Given the description of an element on the screen output the (x, y) to click on. 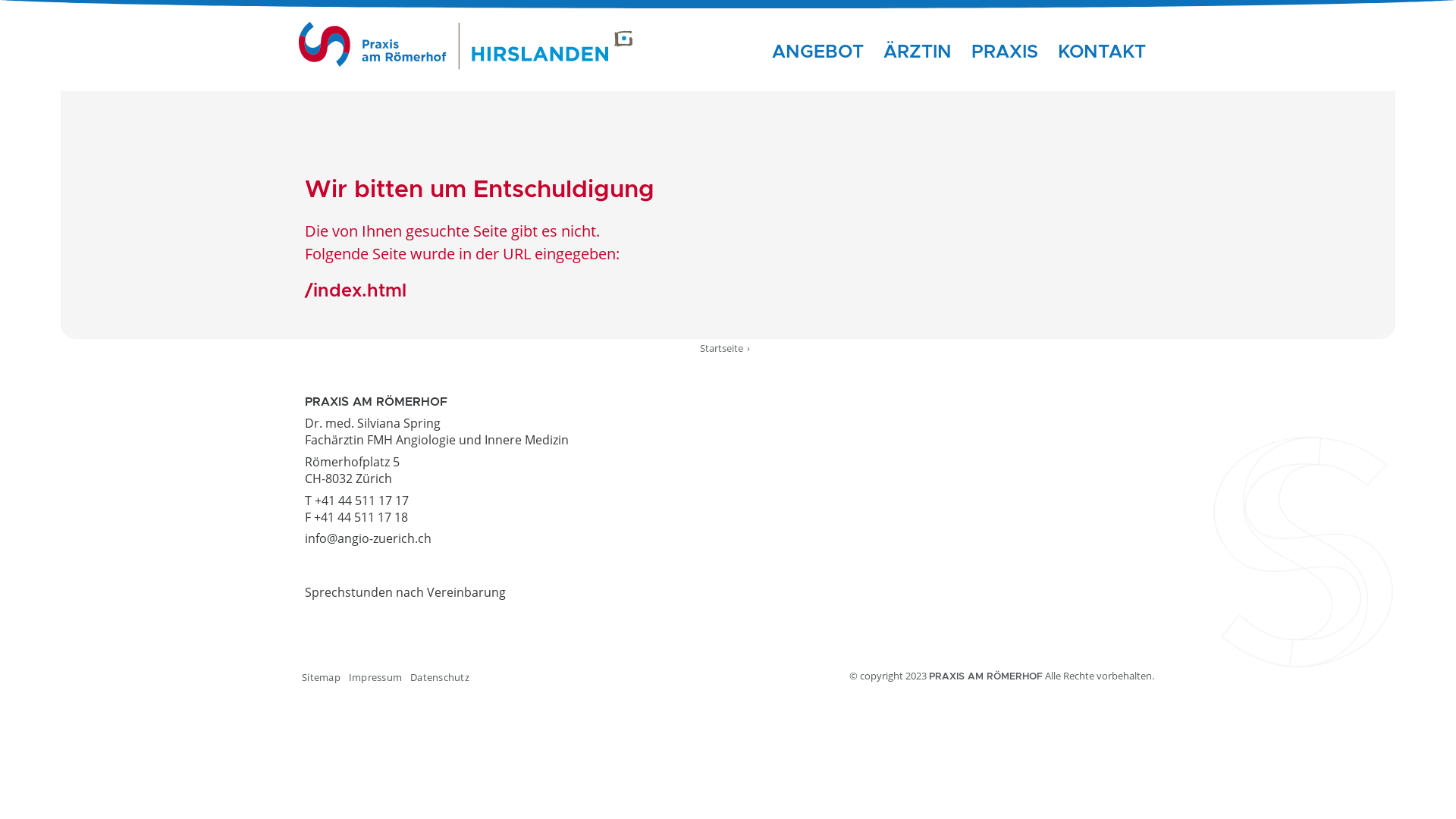
Datenschutz Element type: text (439, 677)
Impressum Element type: text (374, 677)
ANGEBOT Element type: text (819, 52)
KONTAKT Element type: text (1103, 52)
Startseite Element type: text (721, 347)
T +41 44 511 17 17 Element type: text (356, 500)
Sitemap Element type: text (320, 677)
PRAXIS Element type: text (1006, 52)
info@angio-zuerich.ch Element type: text (367, 538)
